Given the description of an element on the screen output the (x, y) to click on. 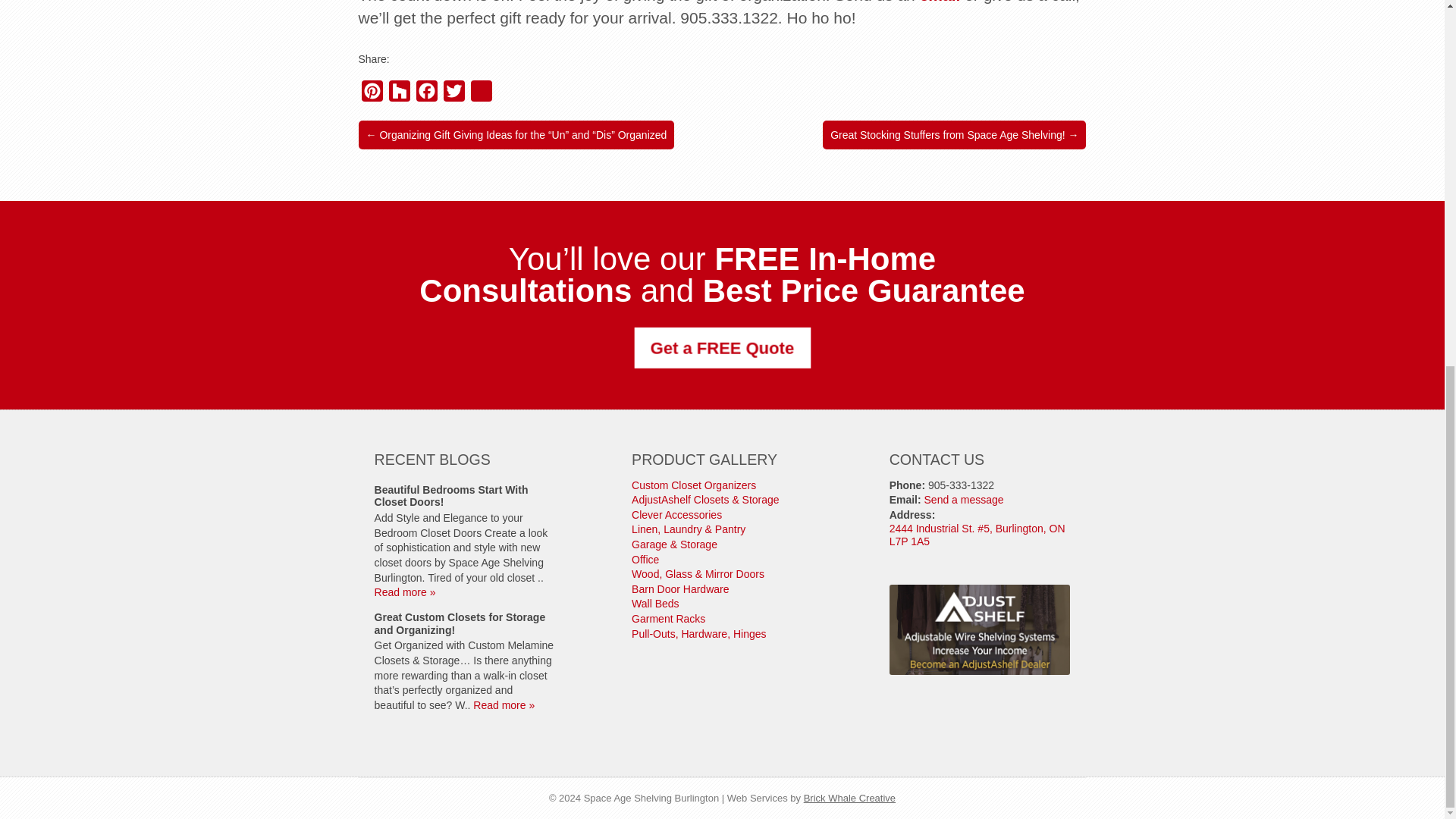
Pull-Outs, Hardware, Hinges (698, 633)
Garment Racks (667, 618)
Clever Accessories (676, 514)
Get a FREE Quote (718, 346)
Twitter (453, 94)
Send a message (964, 499)
Wall Beds (655, 603)
Pinterest (371, 94)
Barn Door Hardware (680, 589)
LinkedIn (481, 94)
email (940, 2)
Pinterest (371, 94)
Custom Closet Organizers (693, 485)
Houzz (398, 94)
Brick Whale Creative (849, 797)
